Given the description of an element on the screen output the (x, y) to click on. 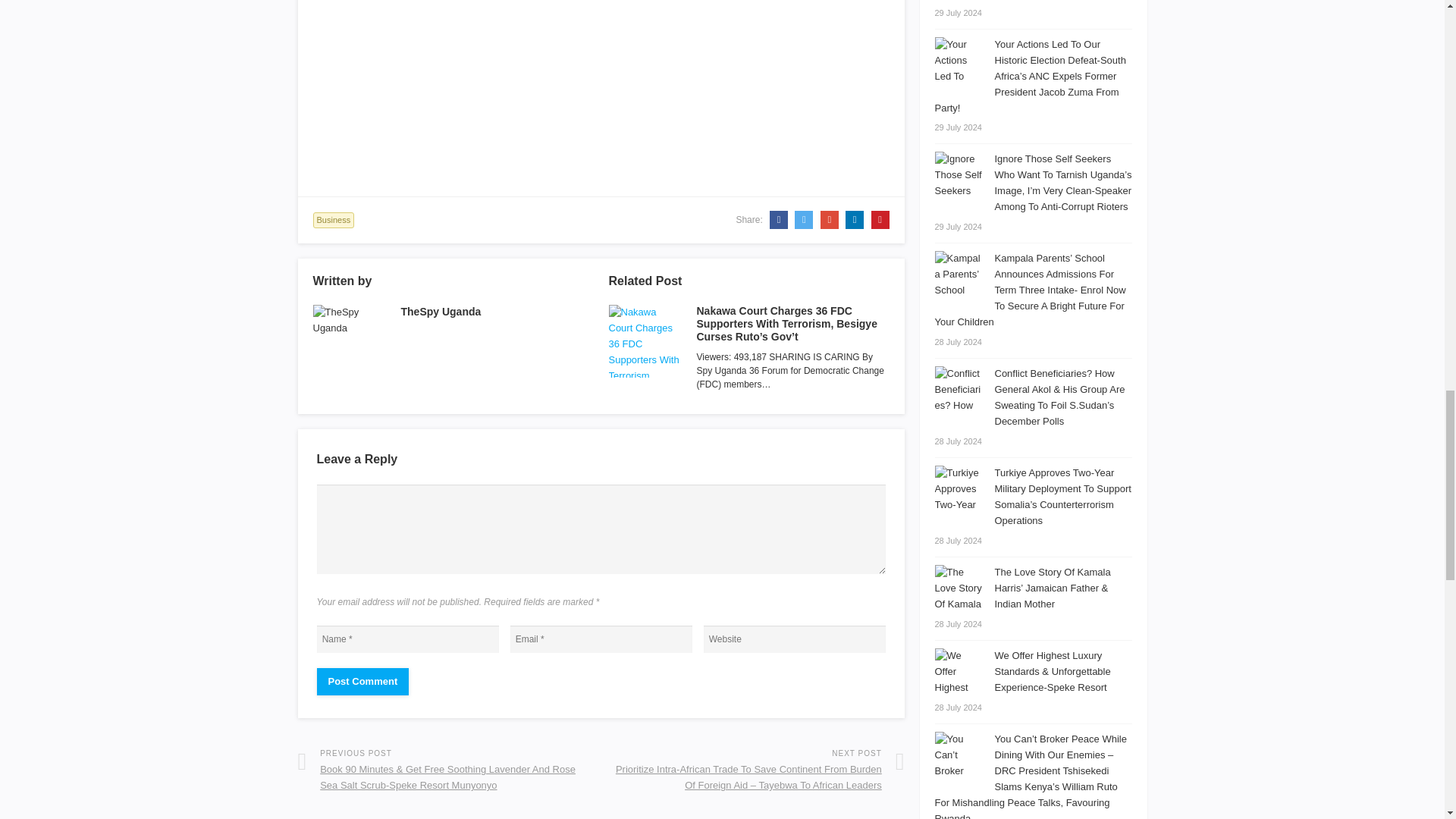
Post Comment (363, 681)
